Given the description of an element on the screen output the (x, y) to click on. 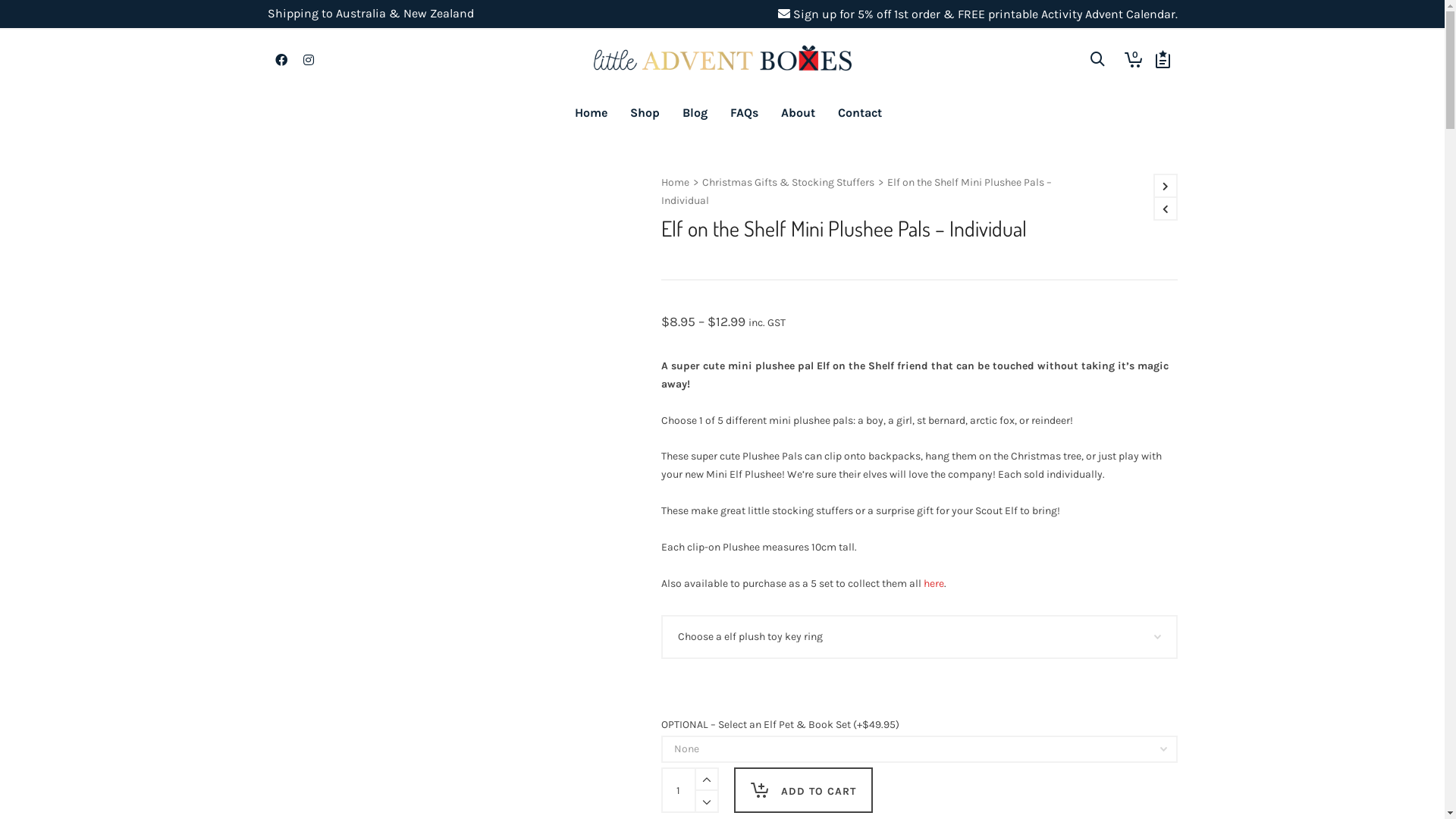
FAQs Element type: text (743, 112)
0 Element type: text (1132, 59)
View your wishlist Element type: hover (1158, 59)
here Element type: text (933, 583)
Home Element type: text (590, 112)
Shop Element type: text (644, 112)
Blog Element type: text (694, 112)
Christmas Gifts & Stocking Stuffers Element type: text (788, 182)
Contact Element type: text (859, 112)
Home Element type: text (675, 182)
Qty Element type: hover (678, 789)
About Element type: text (796, 112)
ADD TO CART Element type: text (803, 789)
